Given the description of an element on the screen output the (x, y) to click on. 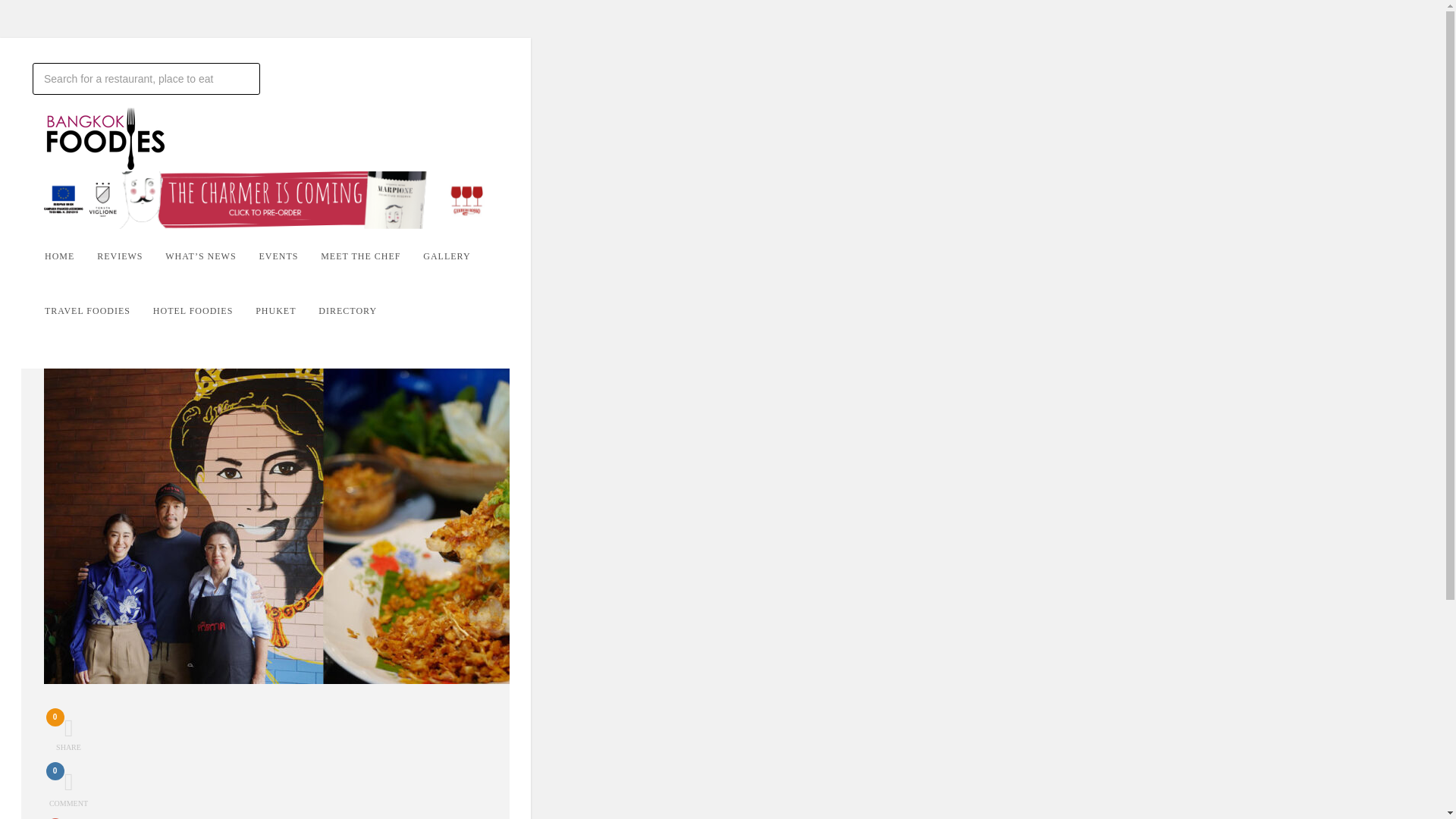
Search (67, 788)
DIRECTORY (146, 79)
PHUKET (67, 733)
HOTEL FOODIES (358, 310)
TRAVEL FOODIES (286, 310)
REVIEWS (203, 310)
MEET THE CHEF (98, 310)
GALLERY (130, 256)
HOME (371, 256)
EVENTS (457, 256)
